Given the description of an element on the screen output the (x, y) to click on. 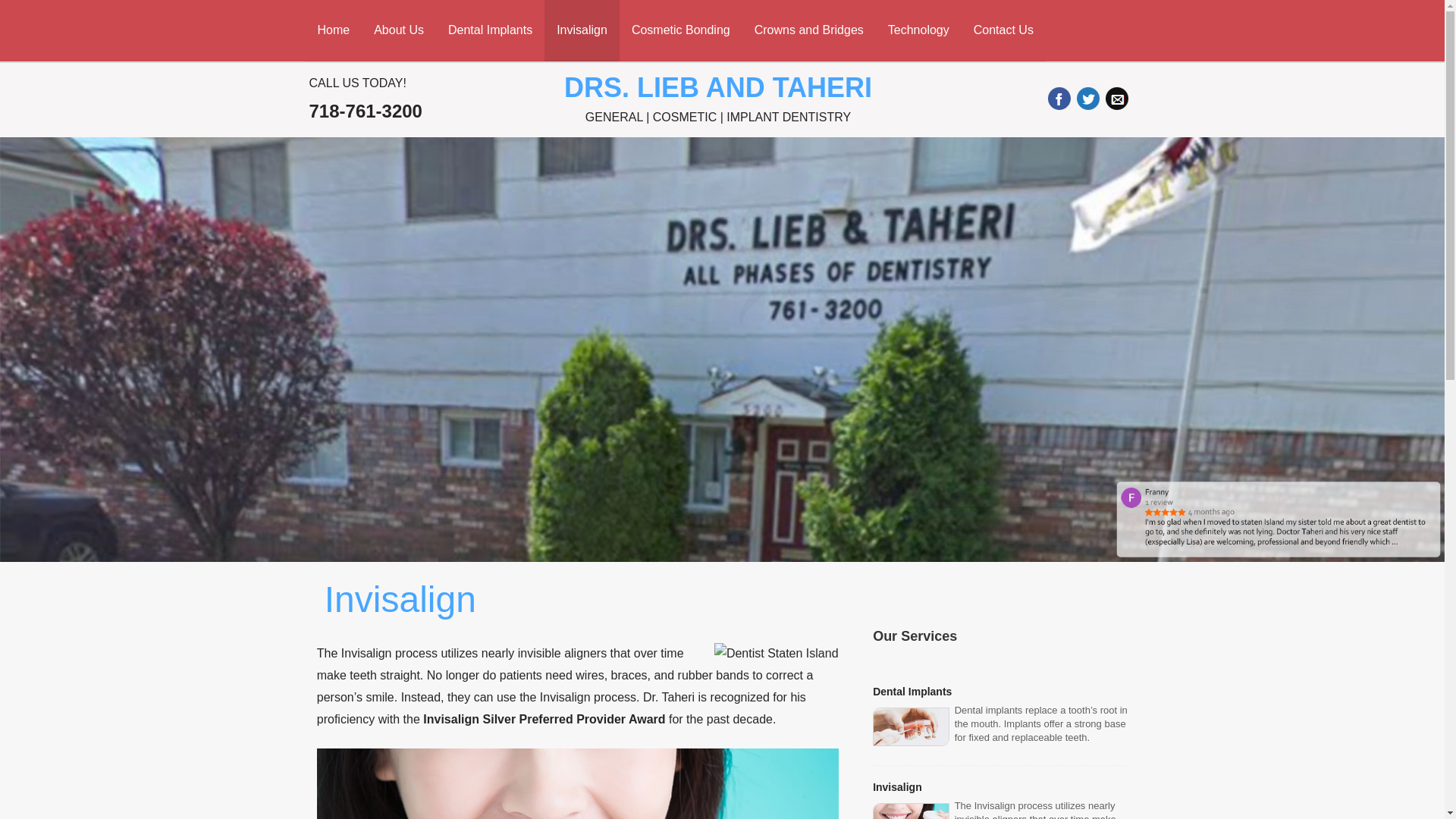
Technology (918, 30)
Cosmetic Bonding (681, 30)
Facebook (1059, 97)
Contact Us (1002, 30)
Dental Implants (489, 30)
Home (332, 30)
Invisalign (582, 30)
About Us (398, 30)
Mail to Us (1116, 97)
Twitter (1088, 97)
Crowns and Bridges (809, 30)
